Given the description of an element on the screen output the (x, y) to click on. 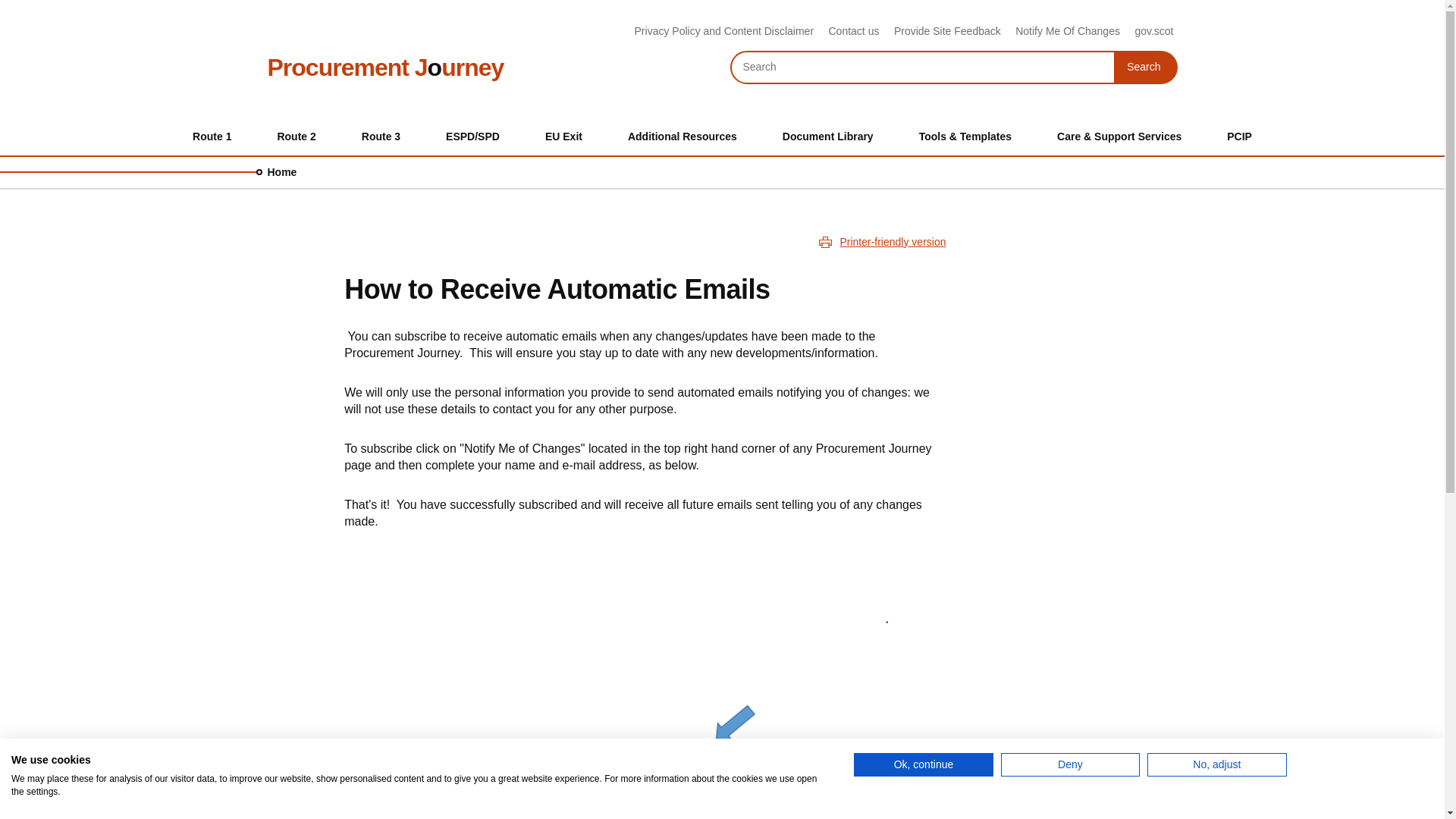
Provide Site Feedback (947, 30)
Route 2 (295, 136)
Contact us (1145, 66)
gov.scot (853, 30)
Procurement Journey (1153, 30)
Privacy Policy and Content Disclaimer (384, 67)
Skip to main content (723, 30)
Notify Me Of Changes (211, 136)
